Given the description of an element on the screen output the (x, y) to click on. 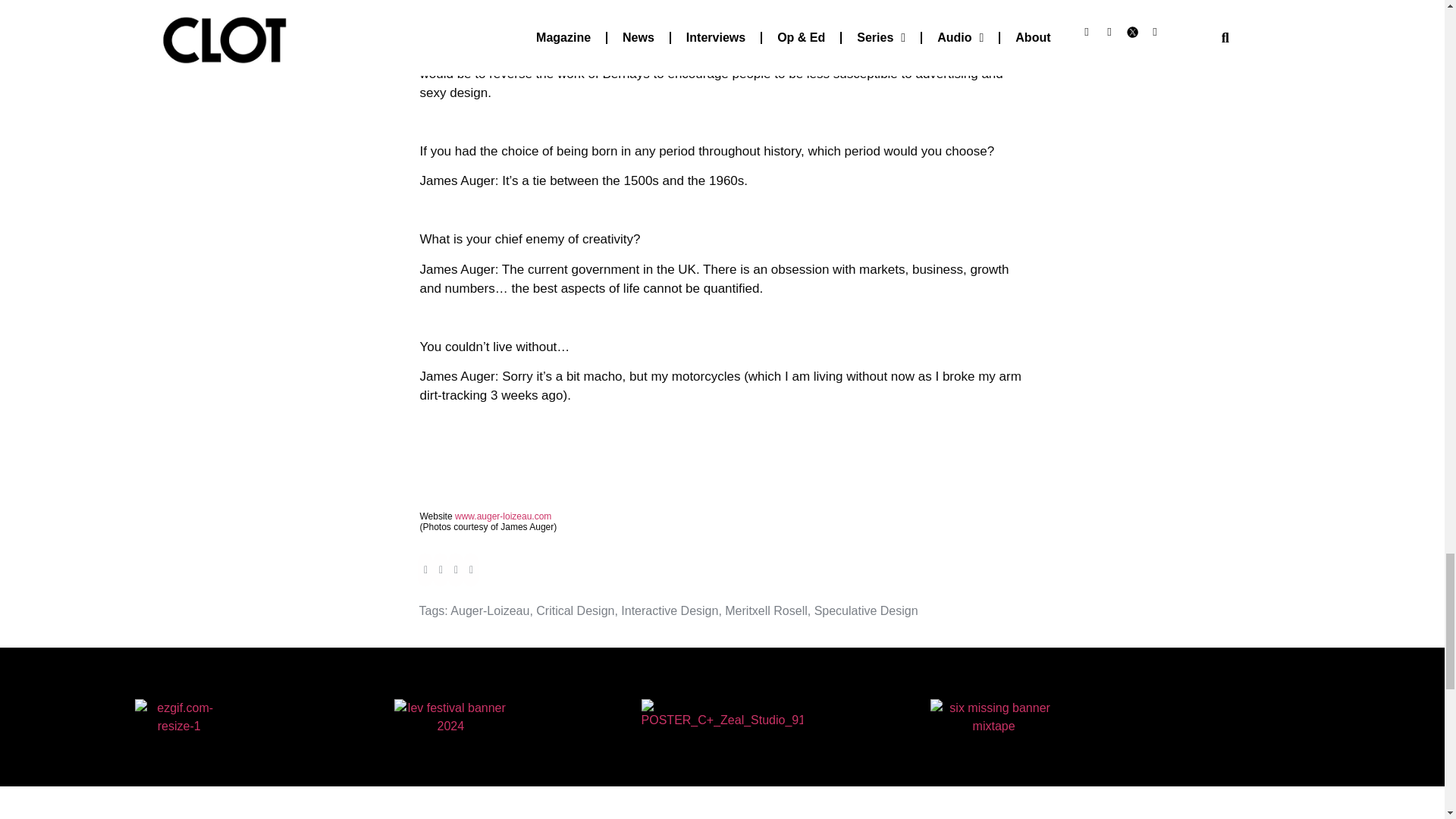
ezgif-1-3803018b25 (450, 717)
ezgif.com-resize-1 (179, 717)
ezgif-1-2da2a536b5 (993, 717)
